Given the description of an element on the screen output the (x, y) to click on. 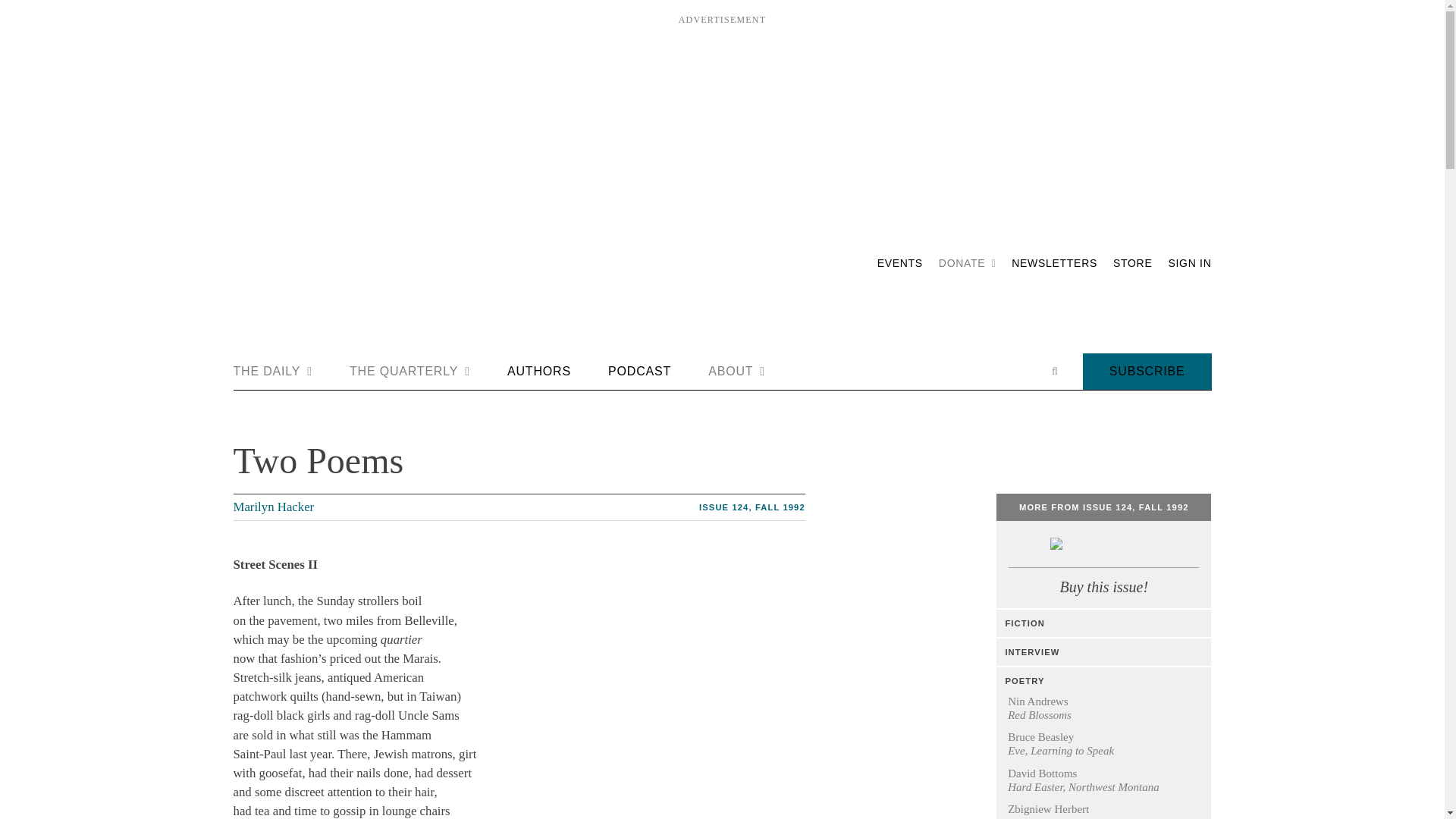
THE QUARTERLY (409, 371)
THE DAILY (272, 371)
Open search (1054, 371)
